Given the description of an element on the screen output the (x, y) to click on. 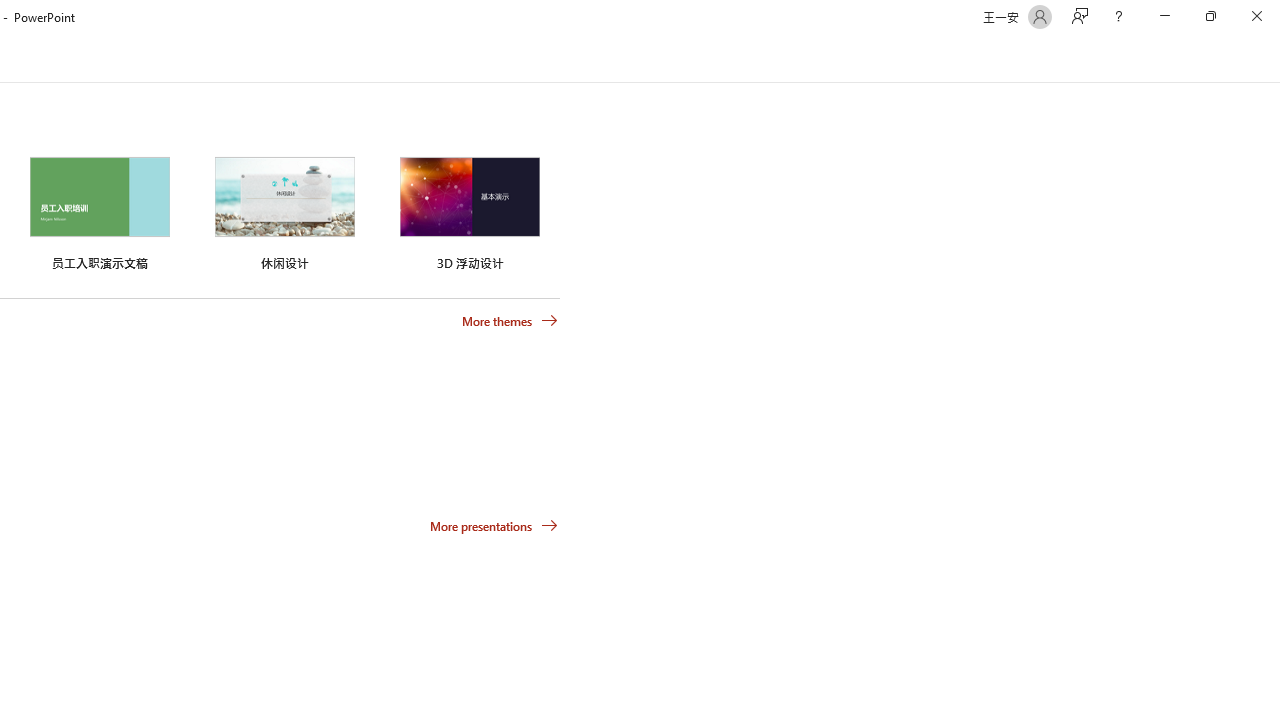
More presentations (493, 525)
Class: NetUIScrollBar (1271, 59)
More themes (509, 321)
